Given the description of an element on the screen output the (x, y) to click on. 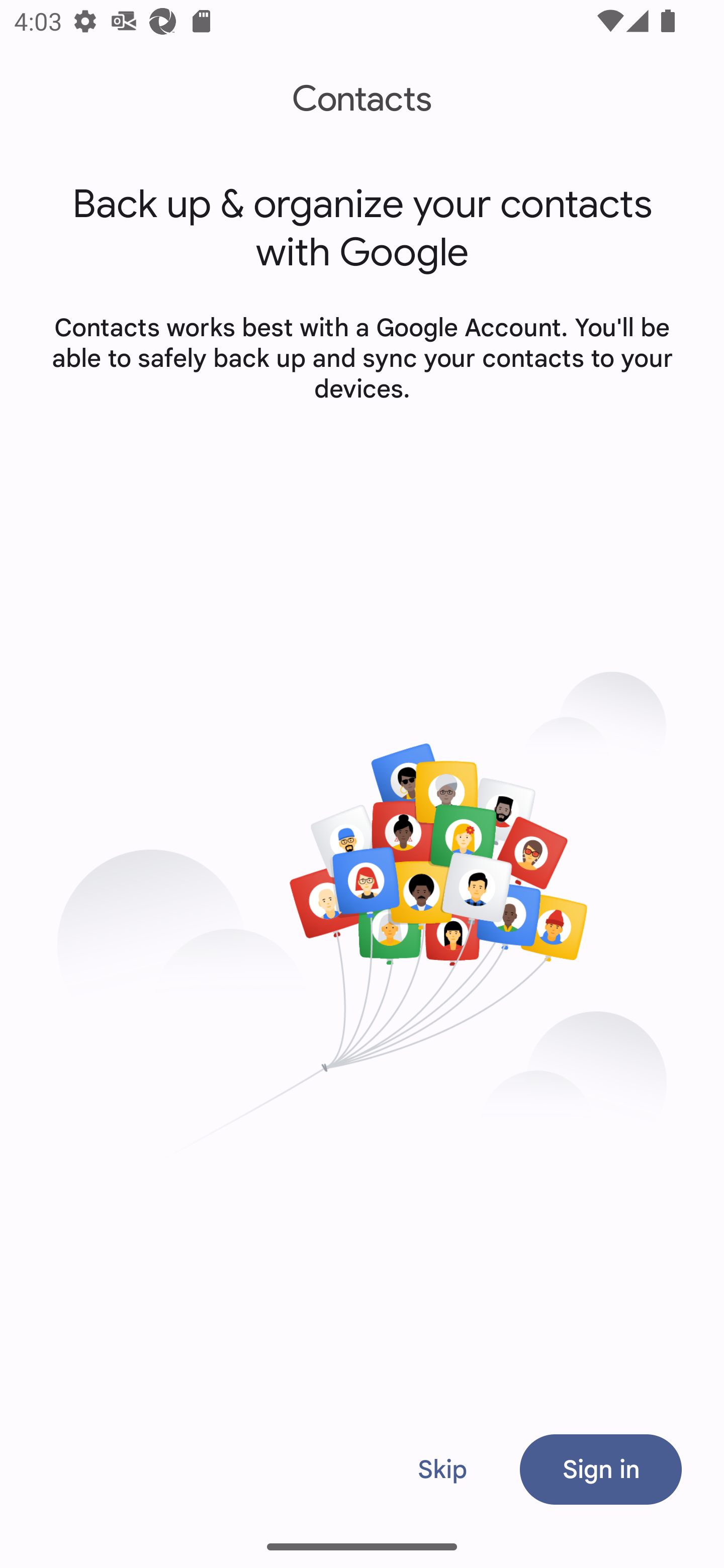
Skip (441, 1468)
Sign in (600, 1468)
